Given the description of an element on the screen output the (x, y) to click on. 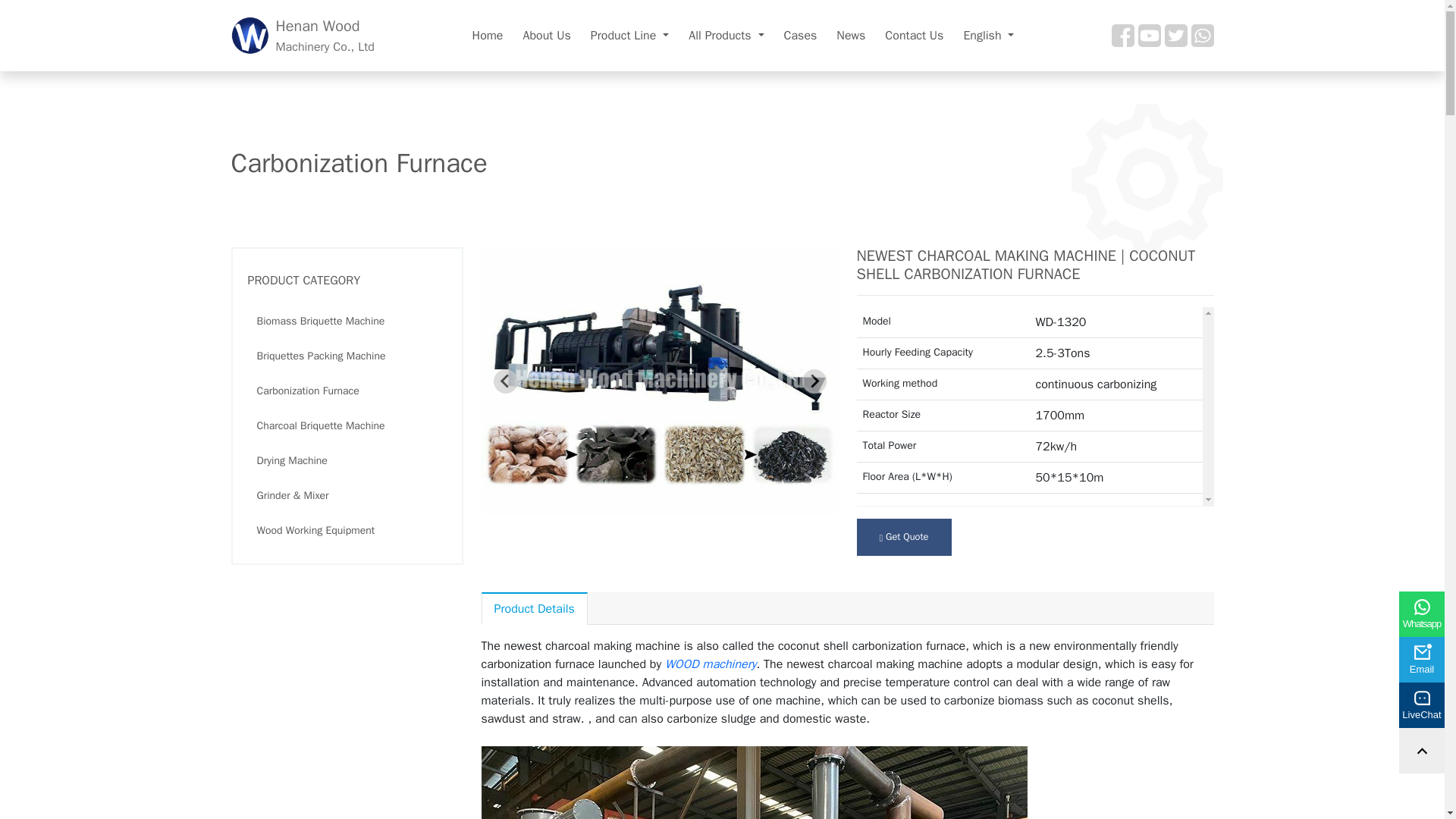
All Products (726, 35)
Contact Us (302, 35)
Product Line (914, 35)
